Given the description of an element on the screen output the (x, y) to click on. 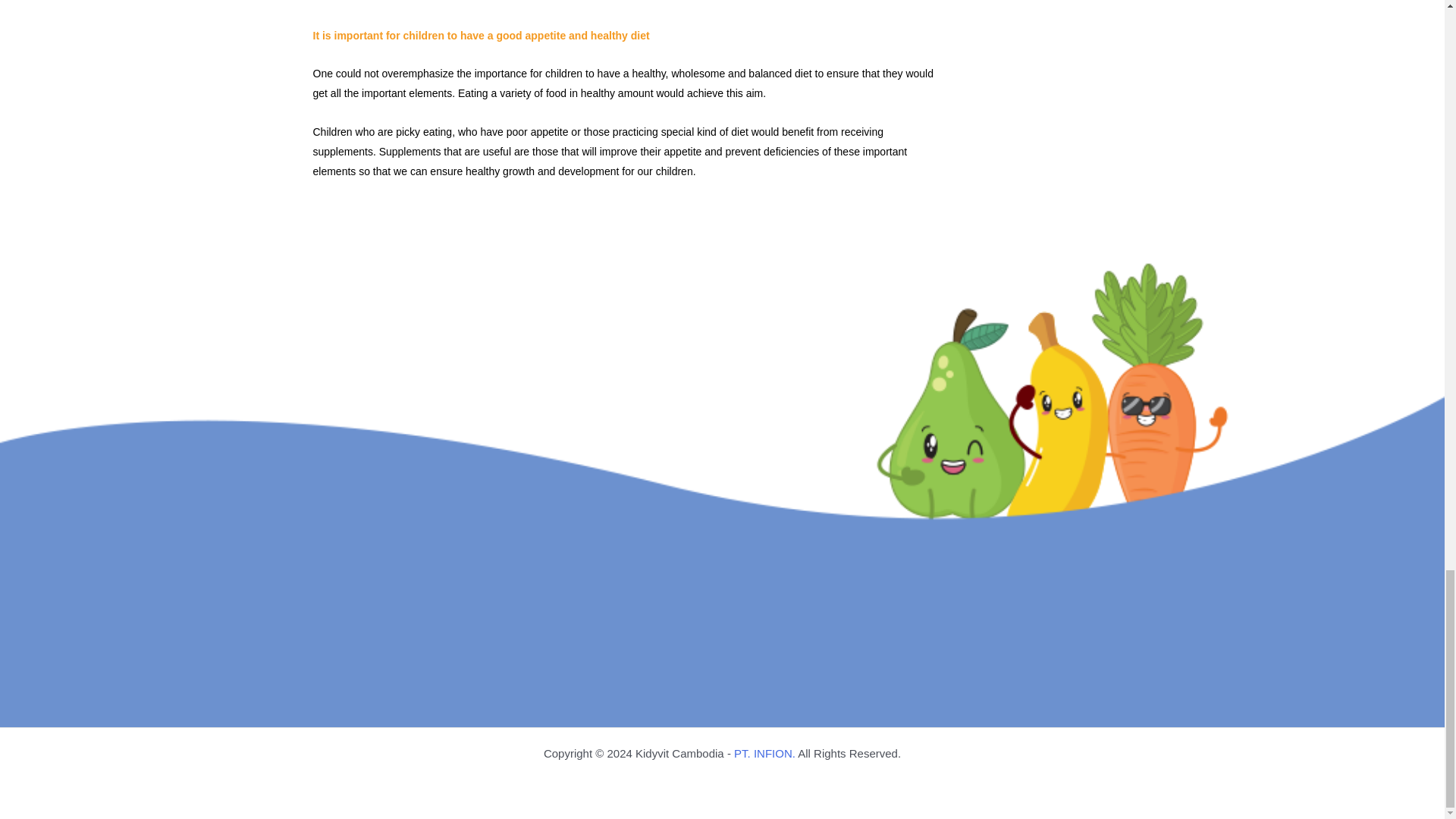
PT. INFION. (763, 753)
